Given the description of an element on the screen output the (x, y) to click on. 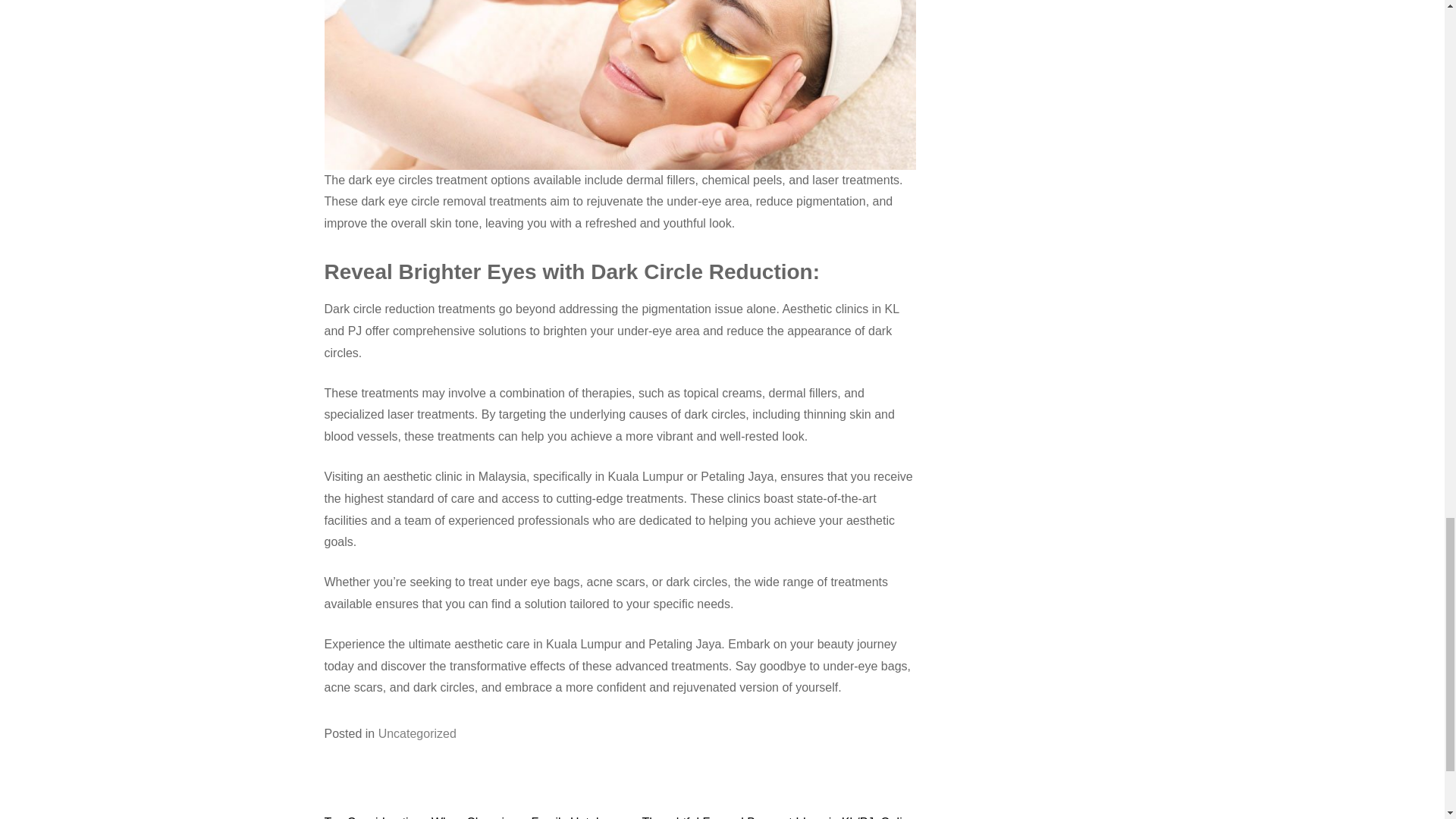
Uncategorized (417, 733)
